Given the description of an element on the screen output the (x, y) to click on. 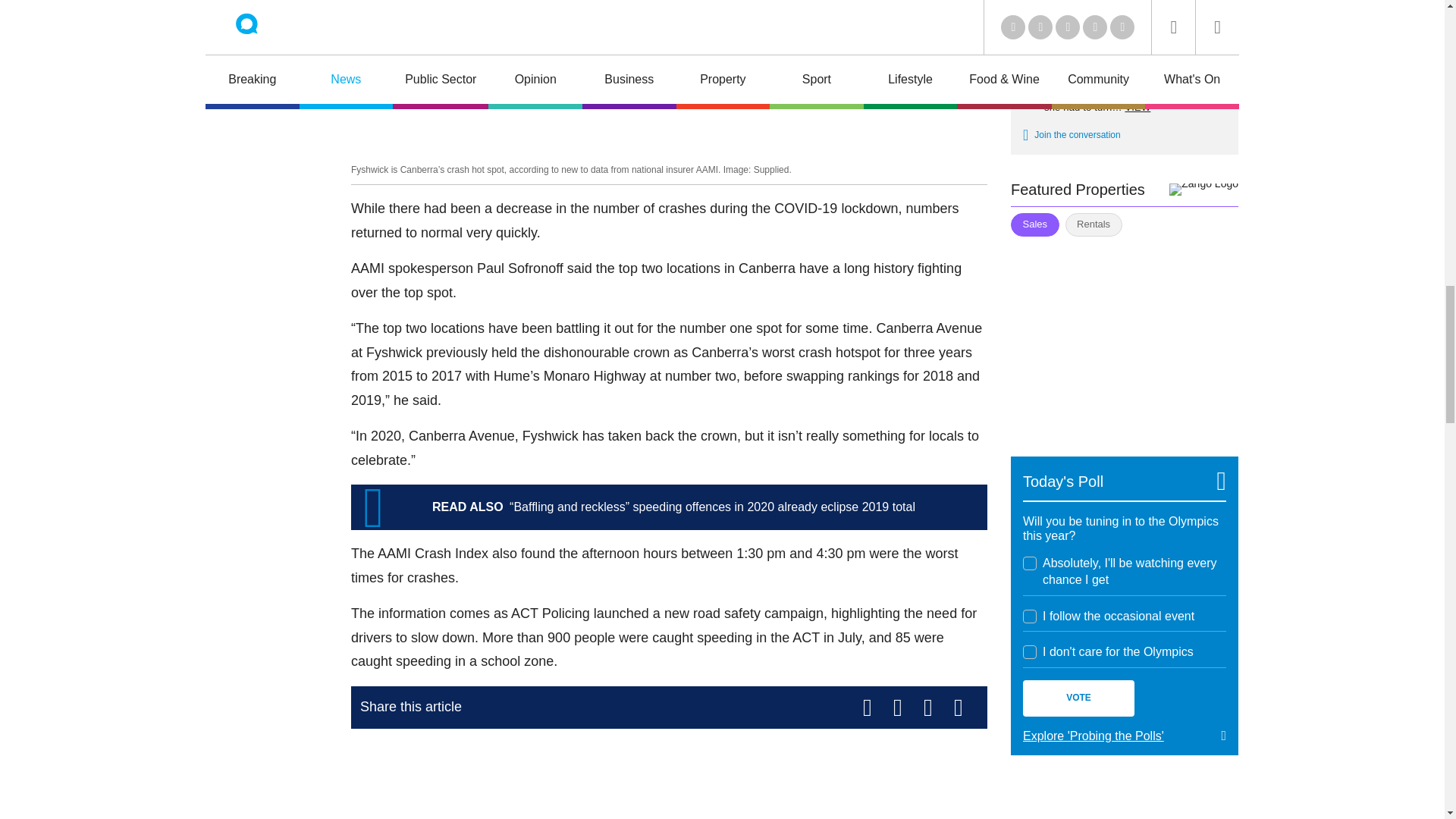
2045 (1029, 652)
Zango Sales (1124, 337)
   Vote    (1078, 698)
2043 (1029, 563)
Zango (1204, 189)
2044 (1029, 616)
